Given the description of an element on the screen output the (x, y) to click on. 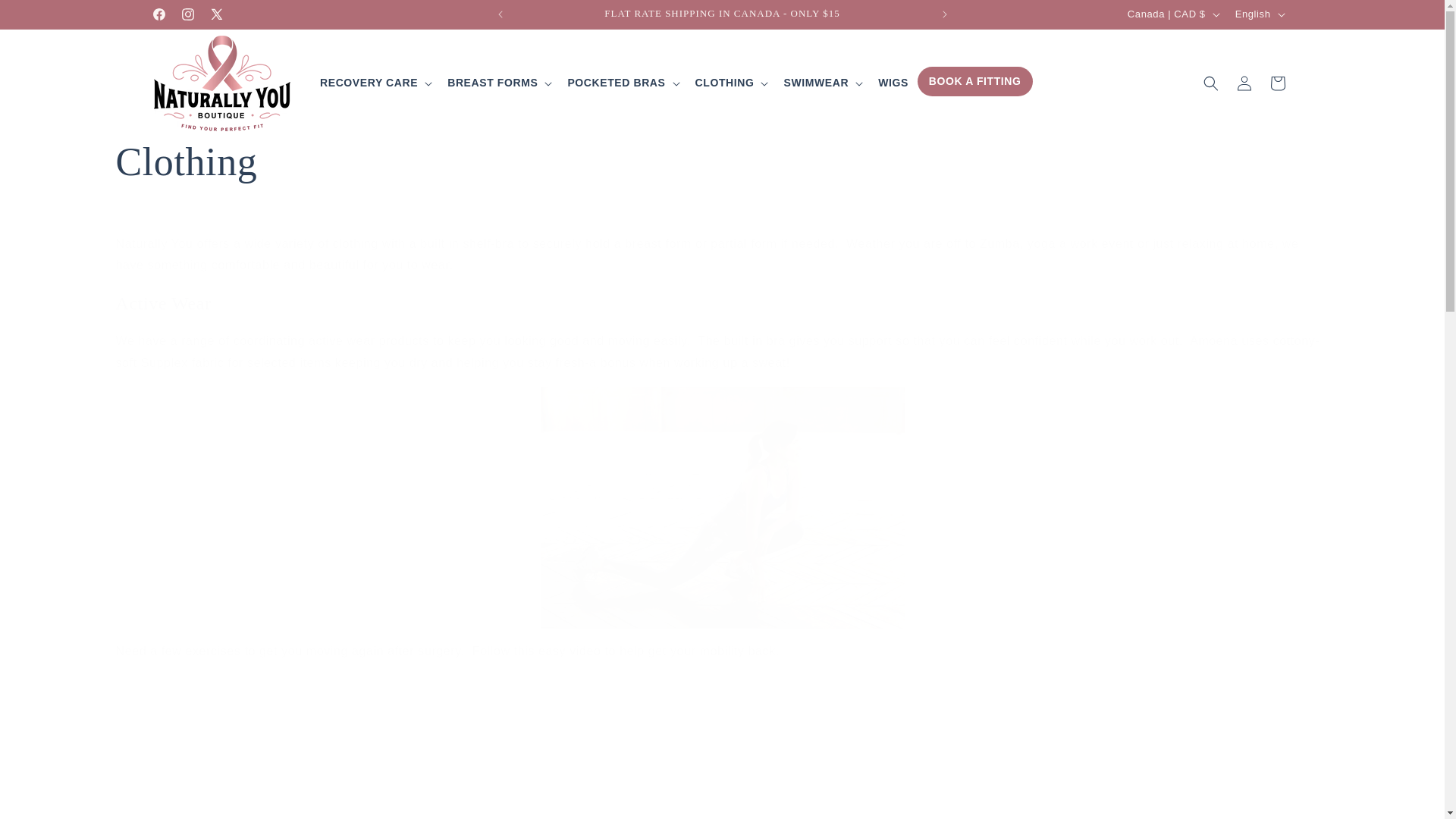
Facebook (158, 14)
Instagram (187, 14)
Clothing (721, 162)
English (1258, 14)
Skip to content (45, 17)
